Given the description of an element on the screen output the (x, y) to click on. 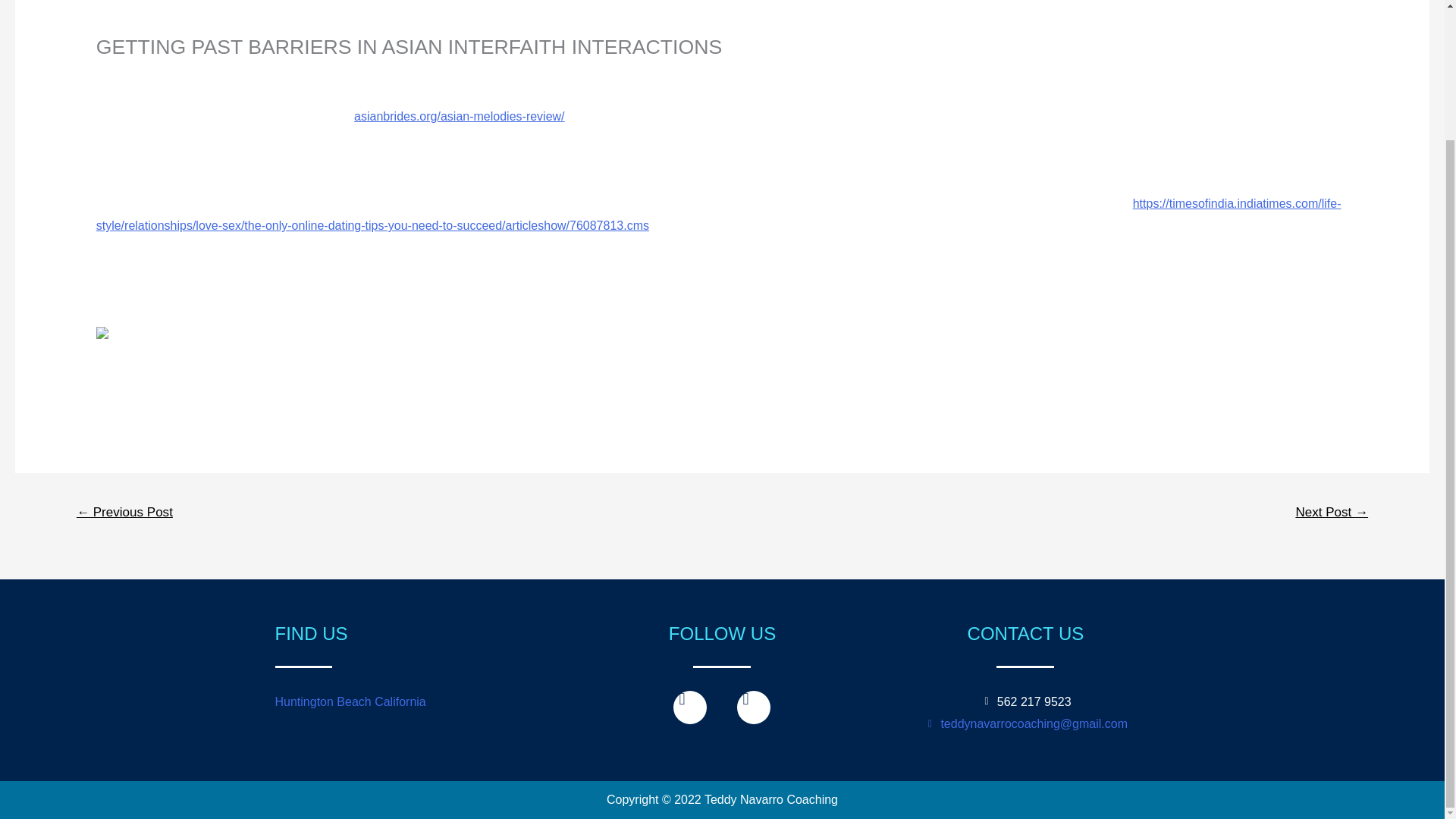
navarro.teddy (232, 72)
Huntington Beach California (350, 701)
View all posts by navarro.teddy (232, 72)
Online dating (131, 72)
